Given the description of an element on the screen output the (x, y) to click on. 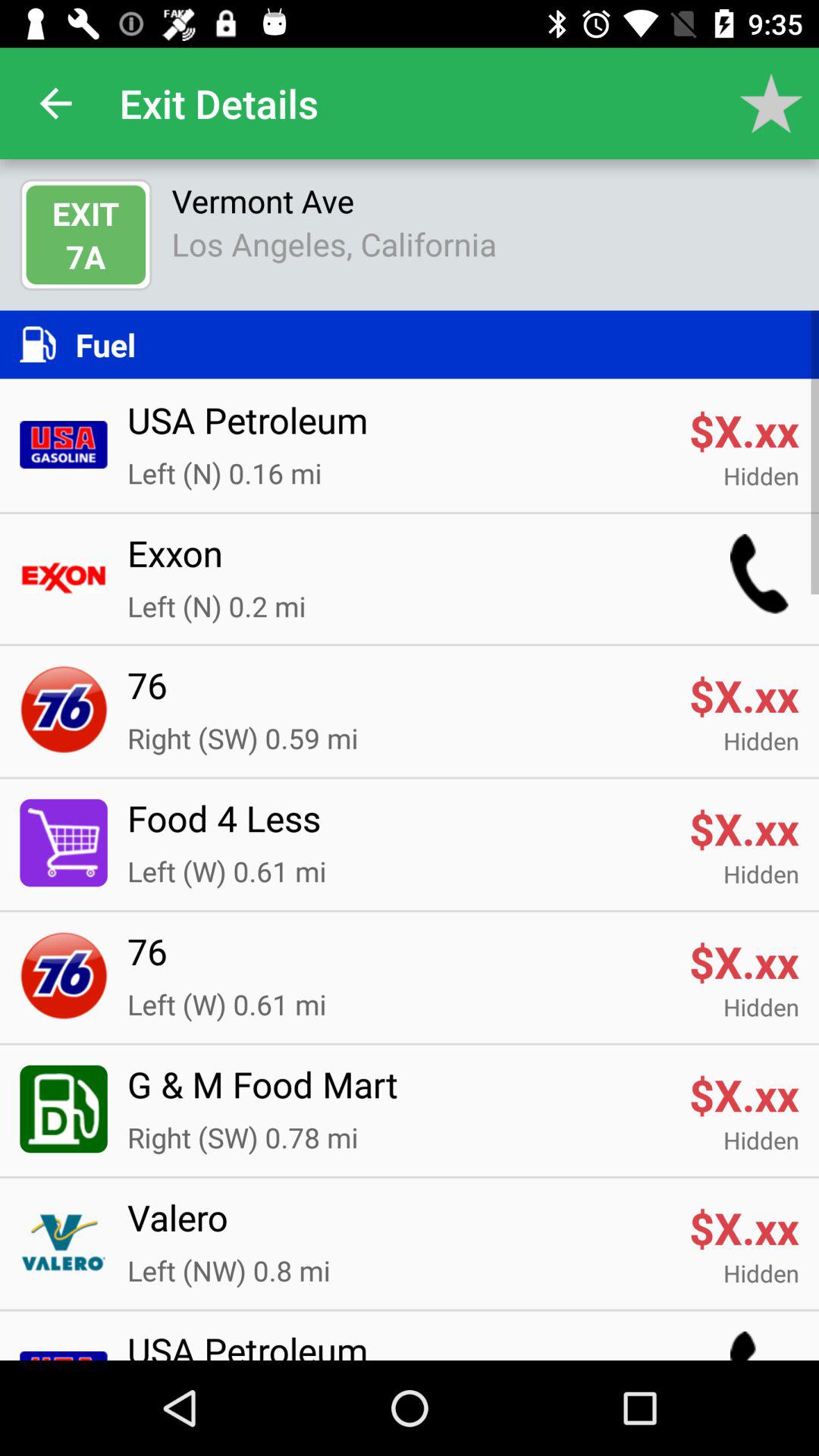
choose the item below hidden item (398, 1226)
